Given the description of an element on the screen output the (x, y) to click on. 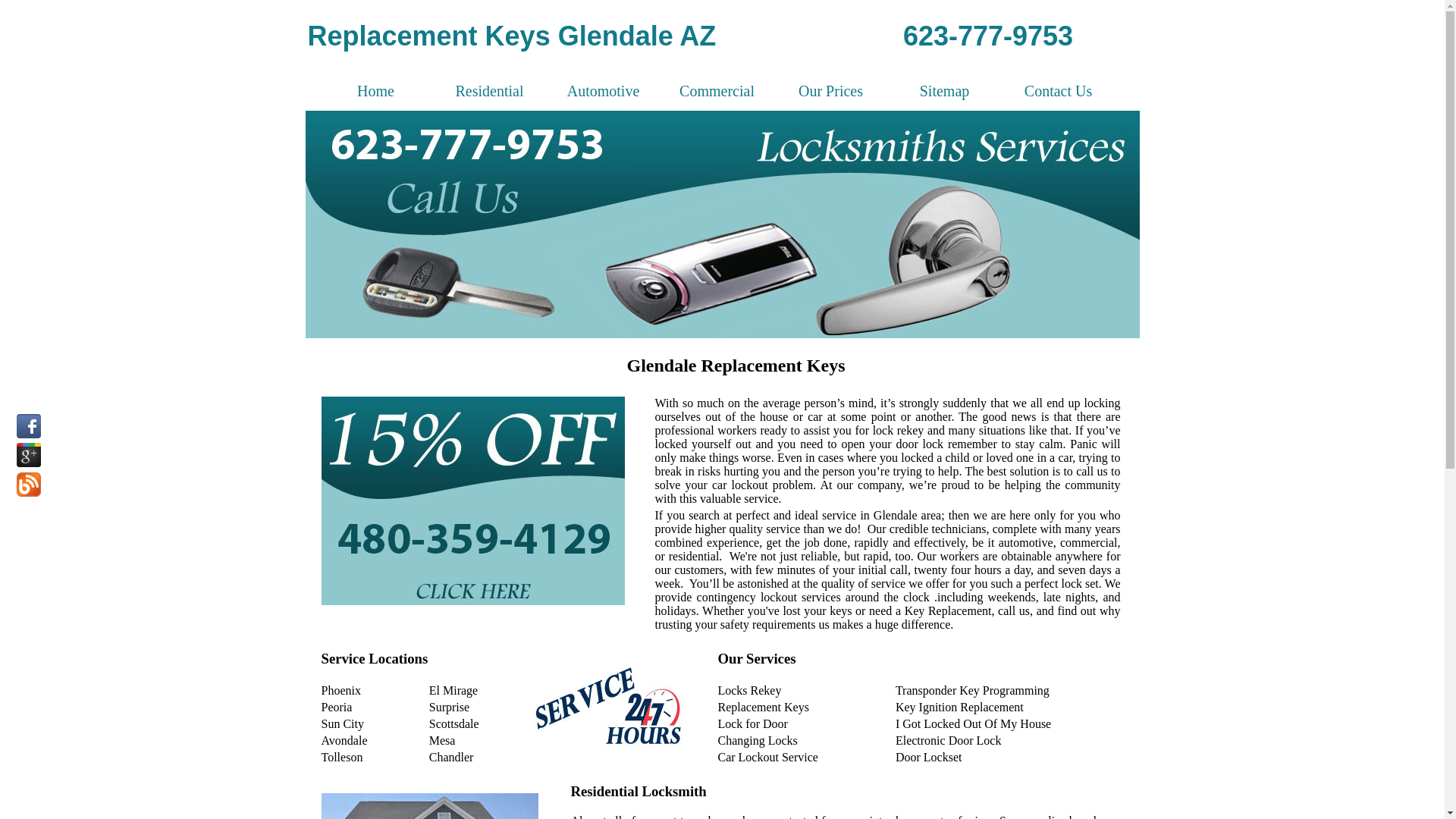
Residential Element type: text (489, 91)
Locks Rekey Element type: text (749, 690)
Tolleson Element type: text (342, 756)
Transponder Key Programming Element type: text (972, 690)
Sun City Element type: text (342, 723)
Peoria Element type: text (336, 706)
Home Element type: text (376, 91)
Commercial Element type: text (717, 91)
Key Ignition Replacement Element type: text (959, 706)
Electronic Door Lock Element type: text (948, 740)
Sitemap Element type: text (944, 91)
Contact Us Element type: text (1058, 91)
Phoenix Element type: text (340, 690)
I Got Locked Out Of My House Element type: text (973, 723)
Avondale Element type: text (344, 740)
Changing Locks Element type: text (757, 740)
Replacement Keys Element type: text (762, 706)
Automotive Element type: text (603, 91)
Lock for Door Element type: text (752, 723)
Car Lockout Service Element type: text (767, 756)
Door Lockset Element type: text (928, 756)
Our Prices Element type: text (831, 91)
